Given the description of an element on the screen output the (x, y) to click on. 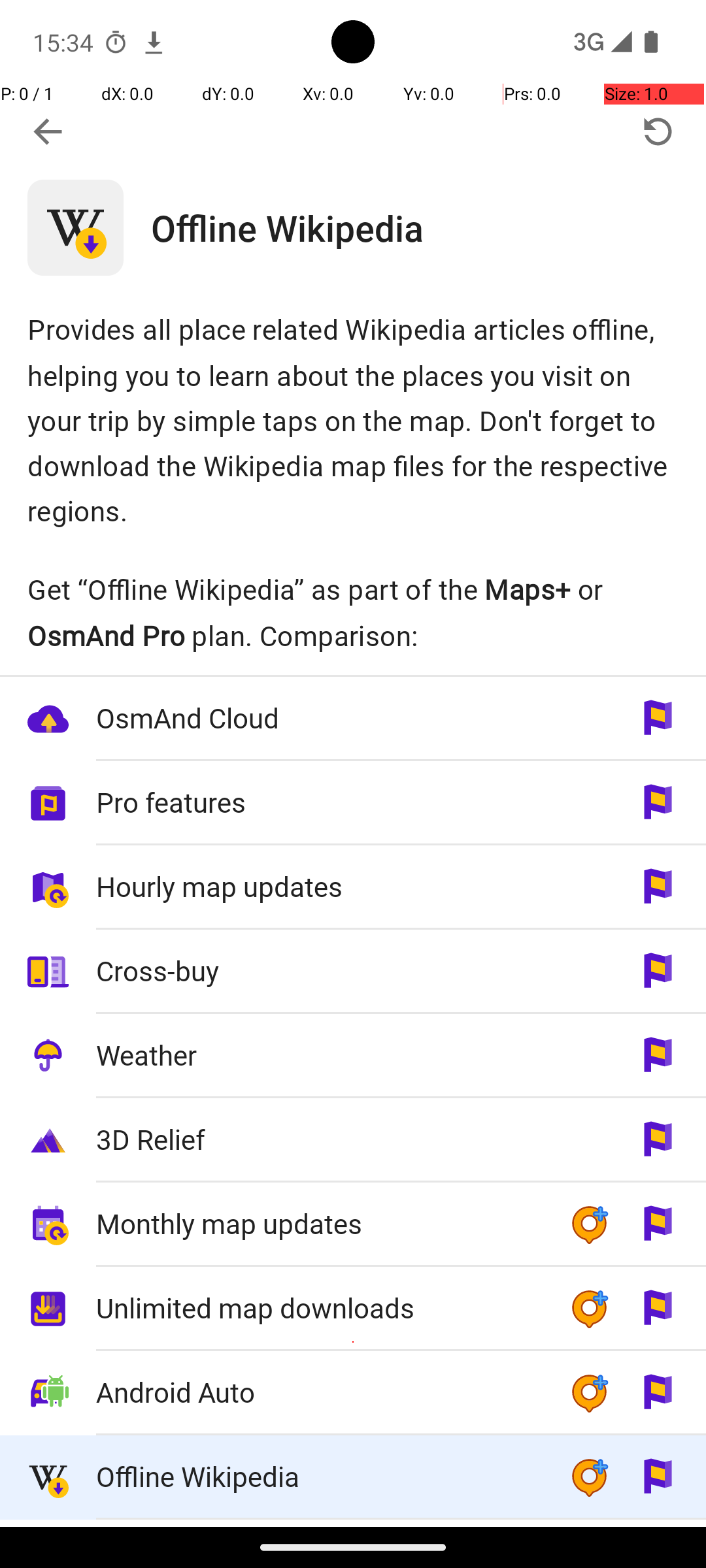
Offline Wikipedia Element type: android.widget.TextView (428, 227)
Restore purchases Element type: android.widget.ImageButton (657, 131)
Provides all place related Wikipedia articles offline, helping you to learn about the places you visit on your trip by simple taps on the map. Don't forget to download the Wikipedia map files for the respective regions. Element type: android.widget.TextView (353, 419)
Get “Offline Wikipedia” as part of the Maps+ or OsmAnd Pro plan. Comparison: Element type: android.widget.TextView (353, 611)
OsmAnd Cloud available as part of the OsmAnd Pro plan Element type: android.widget.LinearLayout (353, 718)
Pro features available as part of the OsmAnd Pro plan Element type: android.widget.LinearLayout (353, 803)
Hourly map updates available as part of the OsmAnd Pro plan Element type: android.widget.LinearLayout (353, 887)
Cross-buy available as part of the OsmAnd Pro plan Element type: android.widget.LinearLayout (353, 971)
Weather available as part of the OsmAnd Pro plan Element type: android.widget.LinearLayout (353, 1055)
3D Relief available as part of the OsmAnd Pro plan Element type: android.widget.LinearLayout (353, 1140)
Monthly map updates available as part of the OsmAnd+ or OsmAnd Pro plan Element type: android.widget.LinearLayout (353, 1224)
Unlimited map downloads available as part of the OsmAnd+ or OsmAnd Pro plan Element type: android.widget.LinearLayout (353, 1308)
Android Auto available as part of the OsmAnd+ or OsmAnd Pro plan Element type: android.widget.LinearLayout (353, 1393)
Offline Wikipedia available as part of the OsmAnd+ or OsmAnd Pro plan Element type: android.widget.LinearLayout (353, 1477)
Offline Wikivoyage available as part of the OsmAnd+ or OsmAnd Pro plan Element type: android.widget.LinearLayout (353, 1522)
OsmAnd Cloud Element type: android.widget.TextView (318, 717)
Pro features Element type: android.widget.TextView (318, 801)
Hourly map updates Element type: android.widget.TextView (318, 885)
Cross-buy Element type: android.widget.TextView (318, 970)
Weather Element type: android.widget.TextView (318, 1054)
3D Relief Element type: android.widget.TextView (318, 1138)
Monthly map updates Element type: android.widget.TextView (318, 1222)
Unlimited map downloads Element type: android.widget.TextView (318, 1307)
Offline Wikivoyage Element type: android.widget.TextView (318, 1523)
